Given the description of an element on the screen output the (x, y) to click on. 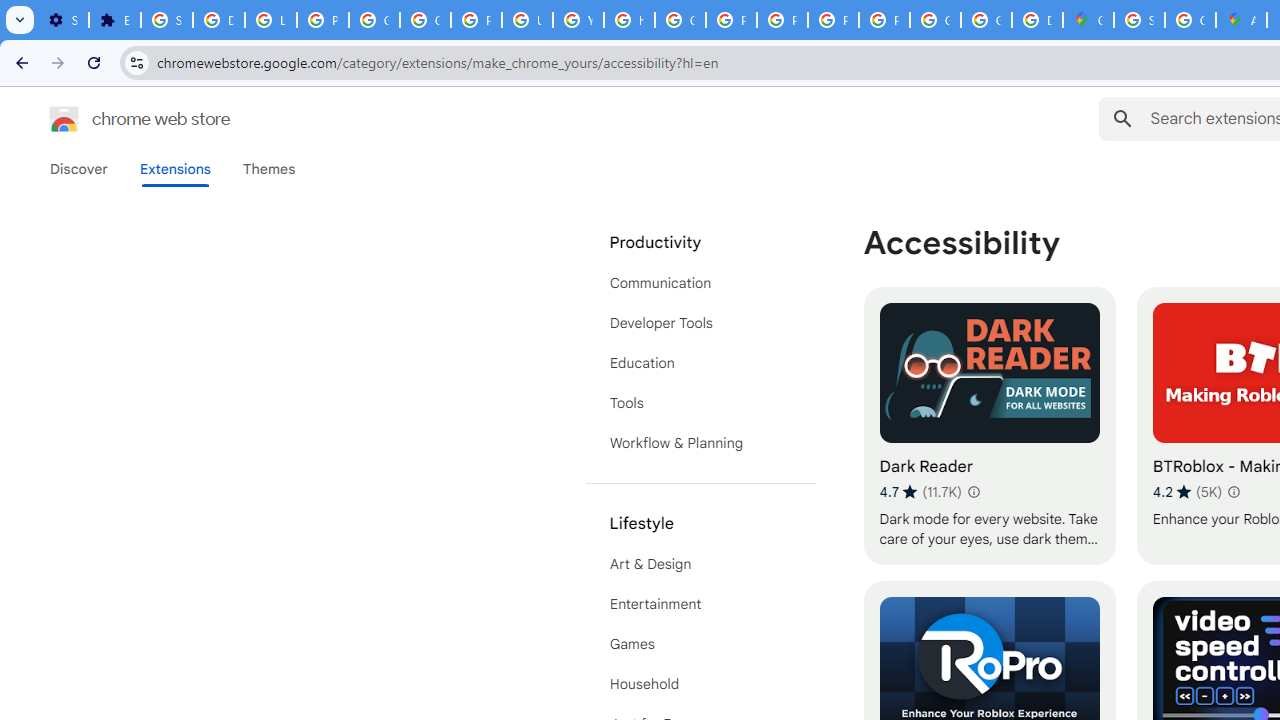
Games (700, 643)
Create your Google Account (1189, 20)
Privacy Help Center - Policies Help (731, 20)
Household (700, 683)
Google Maps (1087, 20)
Developer Tools (700, 322)
